Given the description of an element on the screen output the (x, y) to click on. 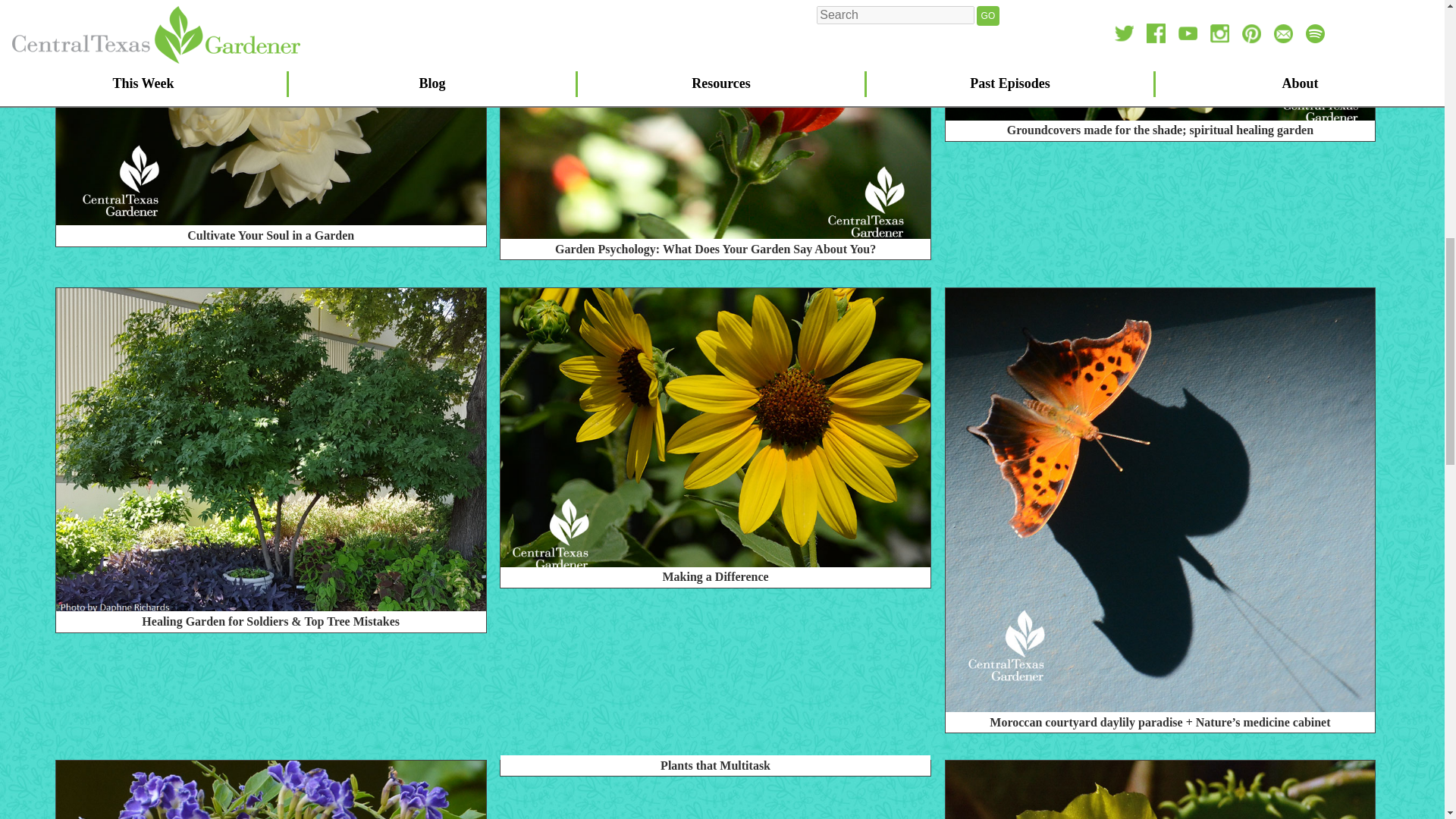
Cultivate Your Soul in a Garden (271, 238)
Plants that Multitask (506, 768)
Making a Difference (715, 580)
Groundcovers made for the shade; spiritual healing garden (1159, 133)
Garden Psychology: What Does Your Garden Say About You? (715, 251)
